Given the description of an element on the screen output the (x, y) to click on. 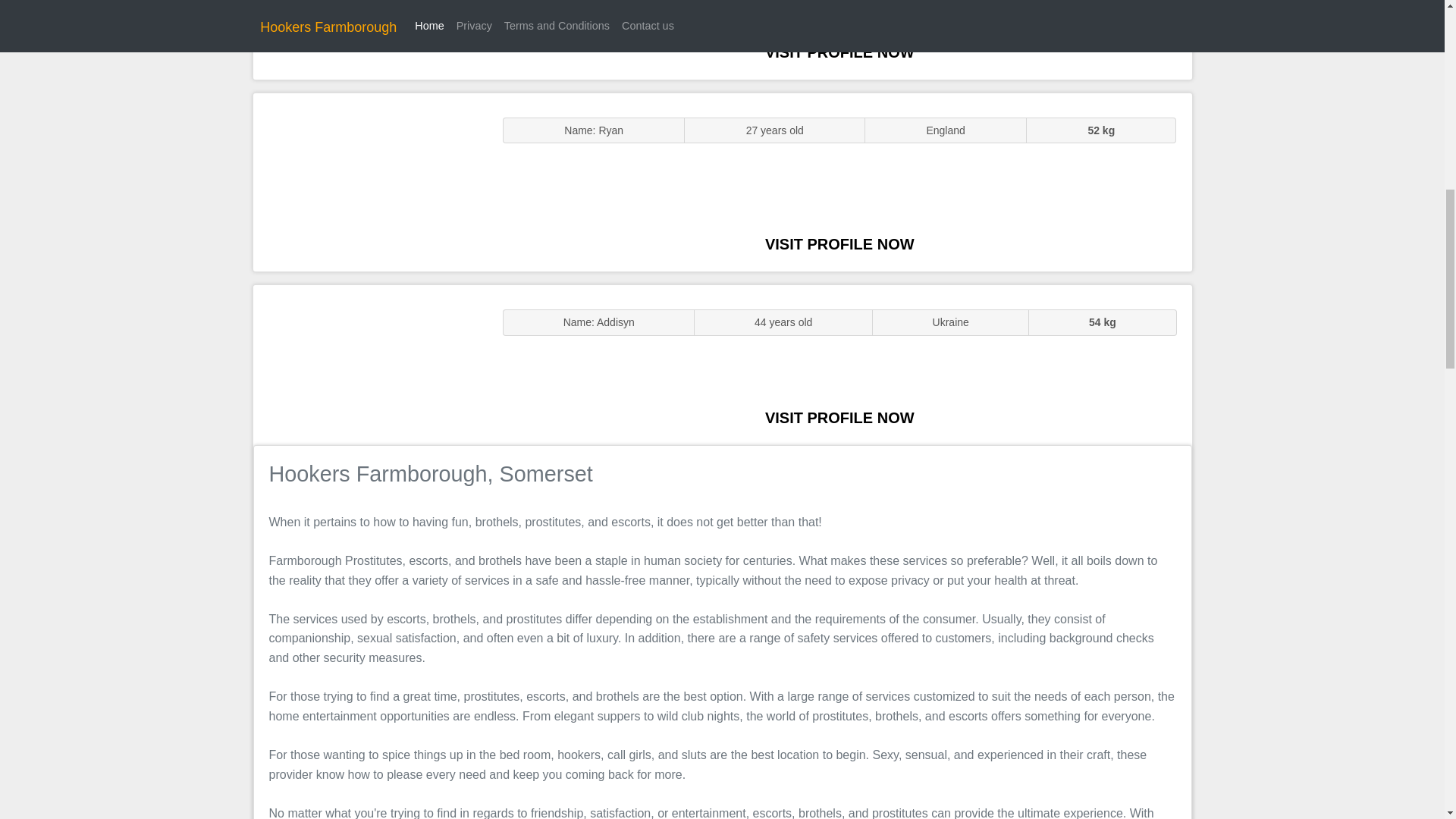
VISIT PROFILE NOW (839, 52)
Sluts (370, 39)
Massage (370, 364)
Sluts (370, 182)
VISIT PROFILE NOW (839, 417)
VISIT PROFILE NOW (839, 243)
